Given the description of an element on the screen output the (x, y) to click on. 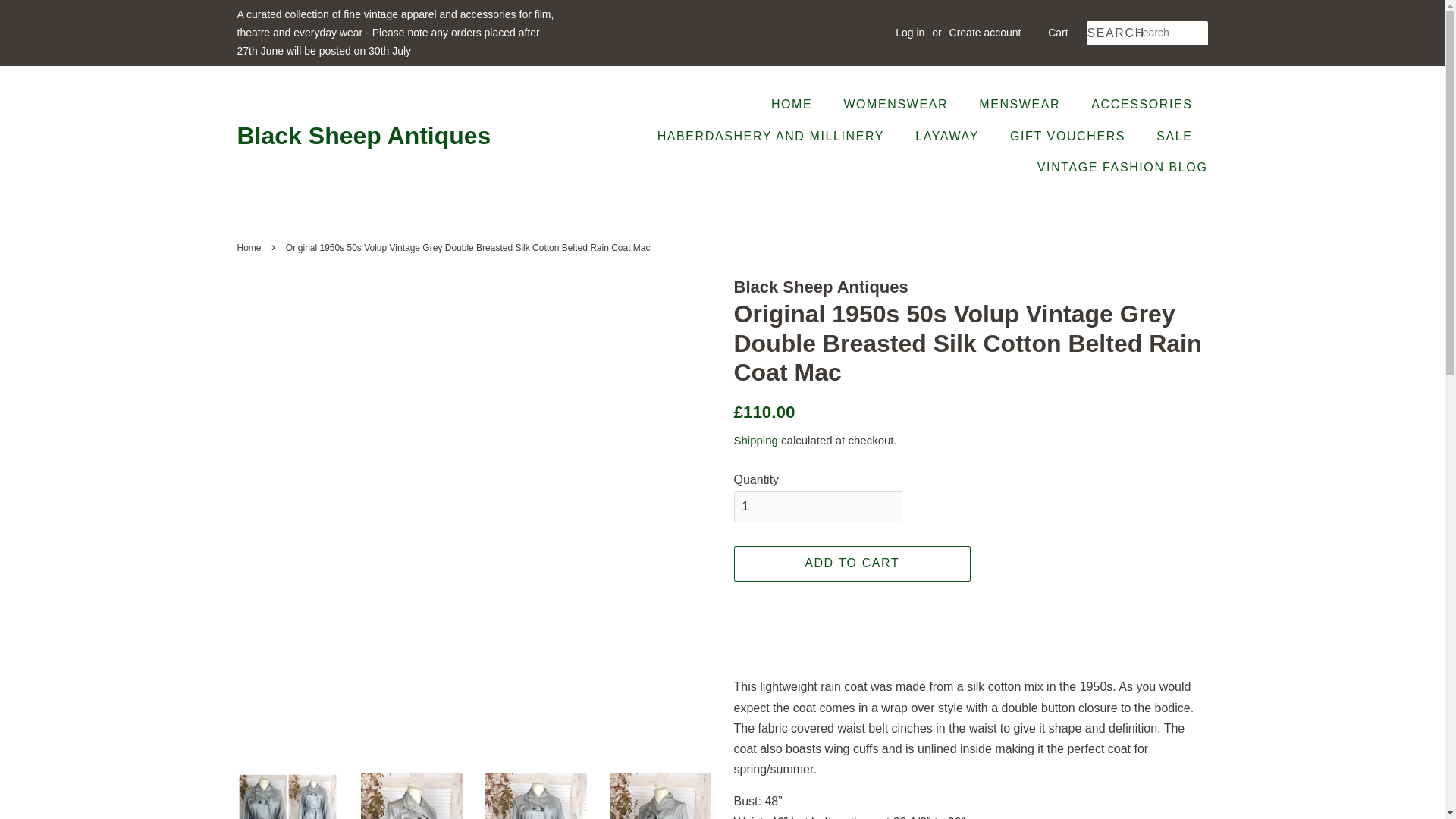
SEARCH (1110, 33)
1 (817, 506)
Back to the frontpage (249, 247)
HOME (799, 103)
Cart (1057, 33)
Log in (909, 32)
Create account (985, 32)
Black Sheep Antiques (362, 135)
